Given the description of an element on the screen output the (x, y) to click on. 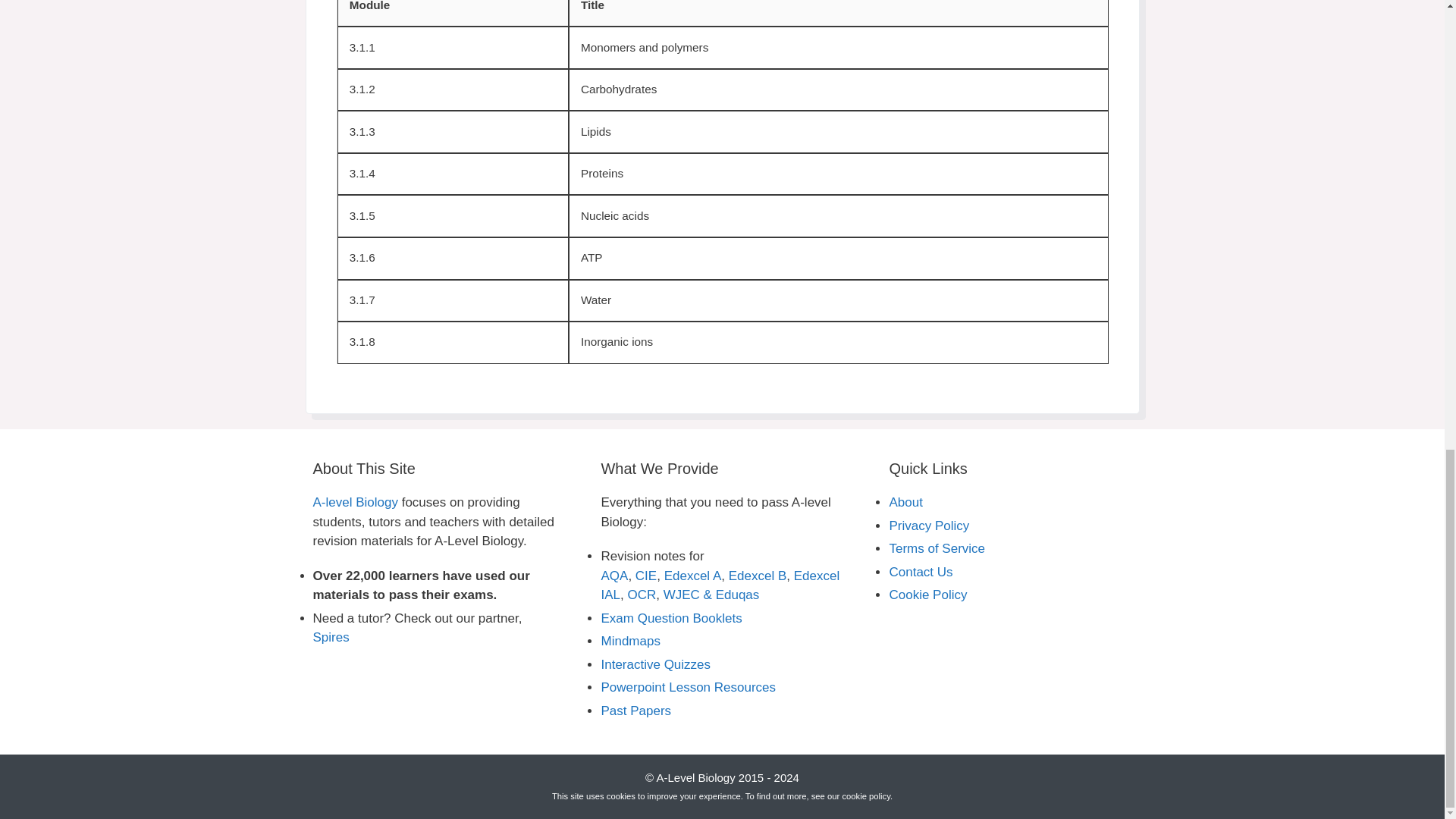
Spires (331, 636)
AQA (613, 575)
CIE (645, 575)
Edexcel B (758, 575)
A-level Biology (355, 502)
Edexcel A (692, 575)
